Given the description of an element on the screen output the (x, y) to click on. 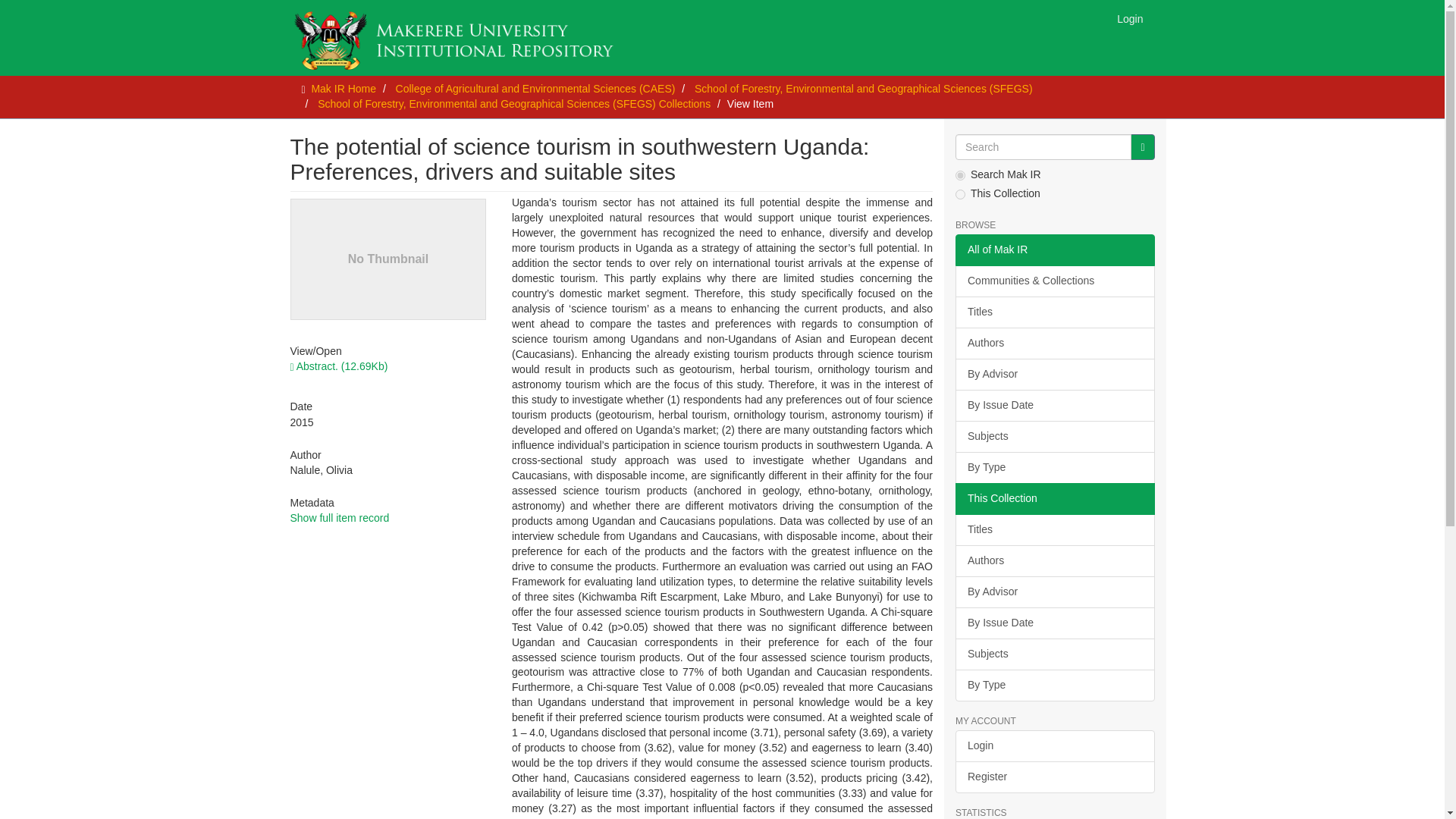
By Advisor (1054, 374)
Go (1142, 146)
Mak IR Home (343, 88)
Titles (1054, 312)
Authors (1054, 343)
Titles (1054, 530)
By Issue Date (1054, 405)
Show full item record (338, 517)
Login (1129, 18)
By Type (1054, 468)
By Advisor (1054, 592)
Subjects (1054, 436)
By Issue Date (1054, 623)
Authors (1054, 561)
This Collection (1054, 499)
